Given the description of an element on the screen output the (x, y) to click on. 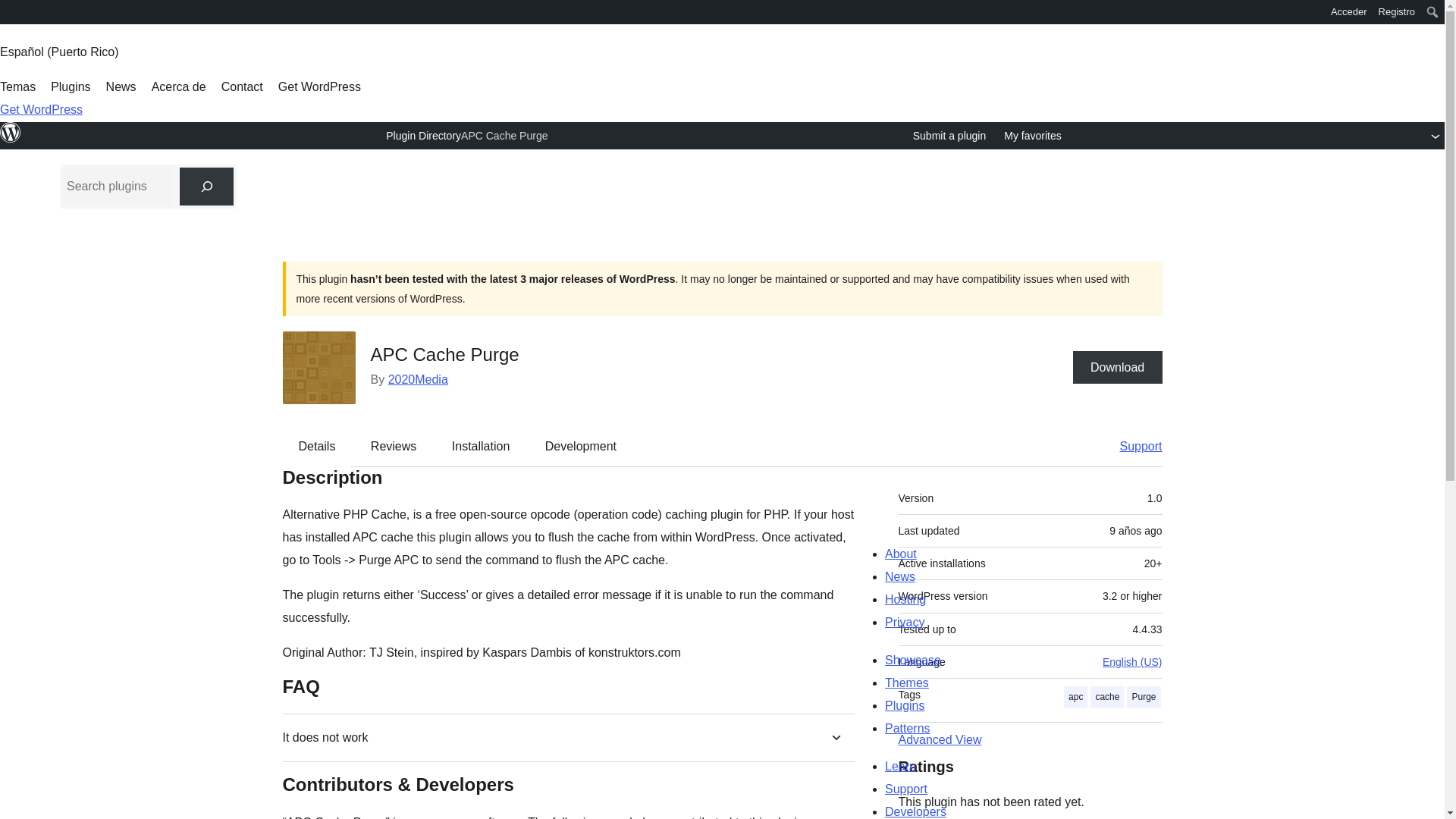
Acceder (1348, 12)
Get WordPress (41, 109)
Get WordPress (319, 87)
APC Cache Purge (504, 135)
Development (580, 446)
WordPress.org (10, 16)
WordPress.org (10, 139)
2020Media (418, 379)
Installation (480, 446)
WordPress.org (10, 10)
WordPress.org (10, 132)
Contact (242, 87)
News (121, 87)
Acerca de (178, 87)
Plugins (70, 87)
